Given the description of an element on the screen output the (x, y) to click on. 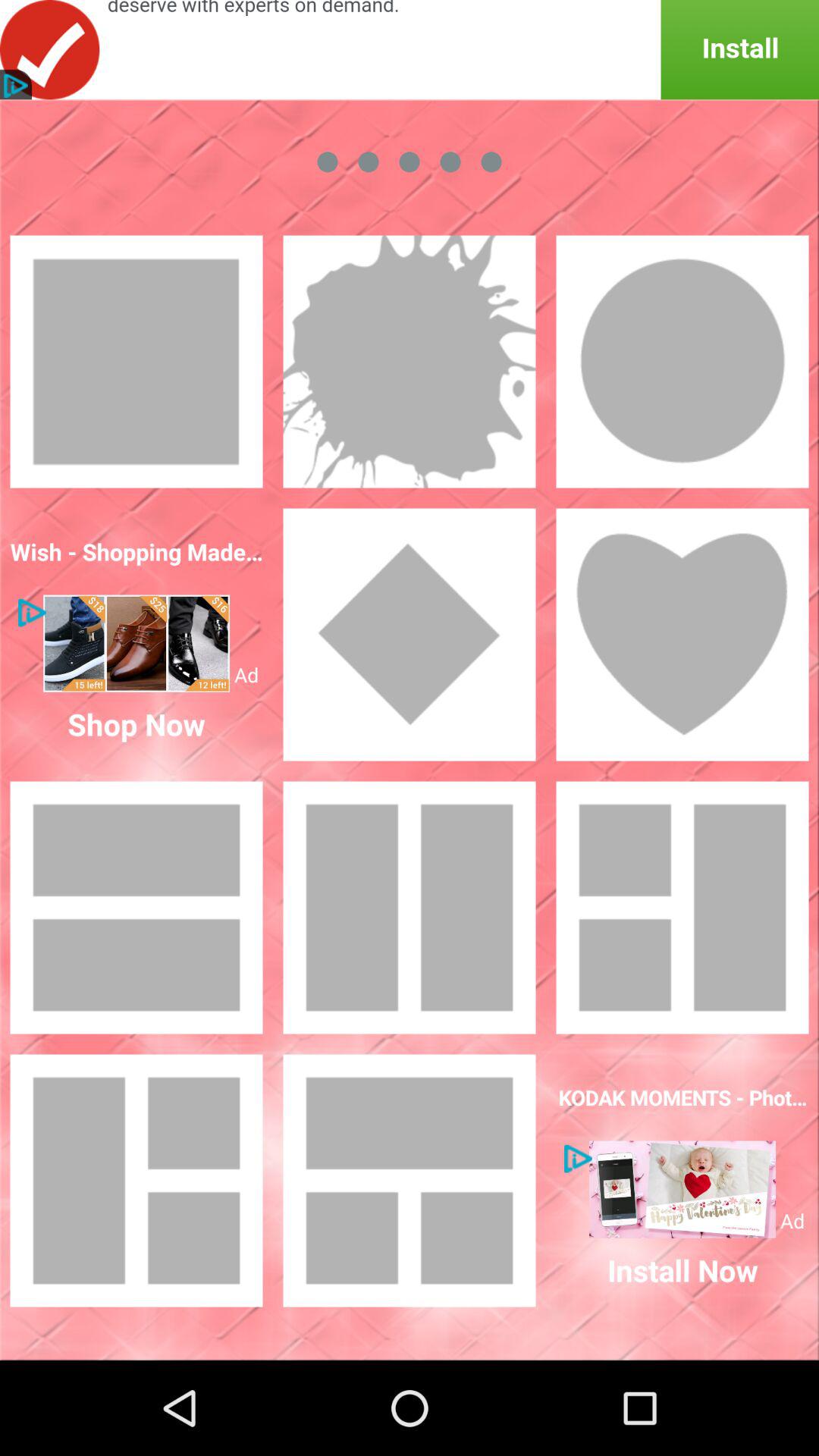
selecyt model (136, 1180)
